Given the description of an element on the screen output the (x, y) to click on. 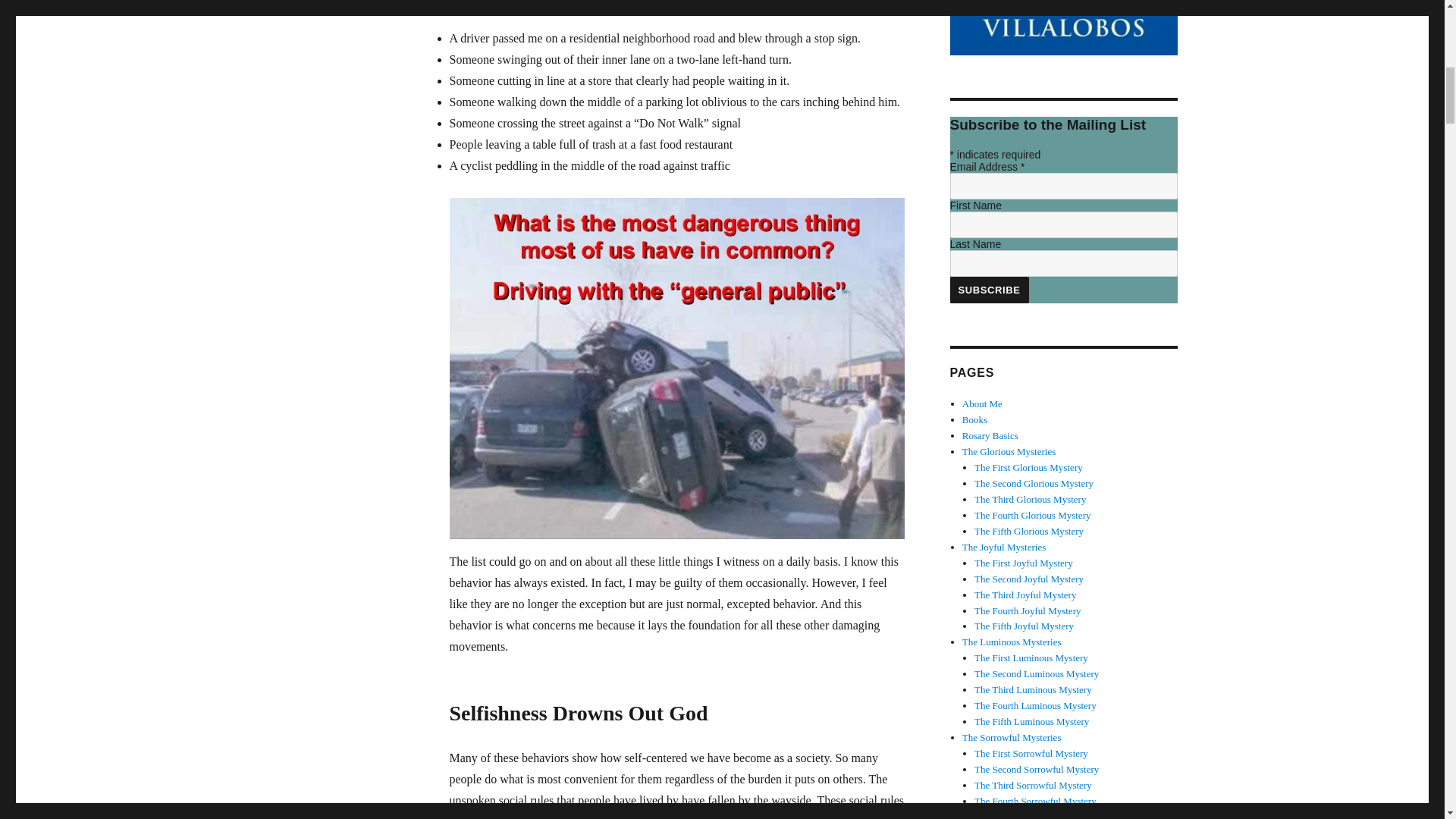
Subscribe (988, 289)
